Given the description of an element on the screen output the (x, y) to click on. 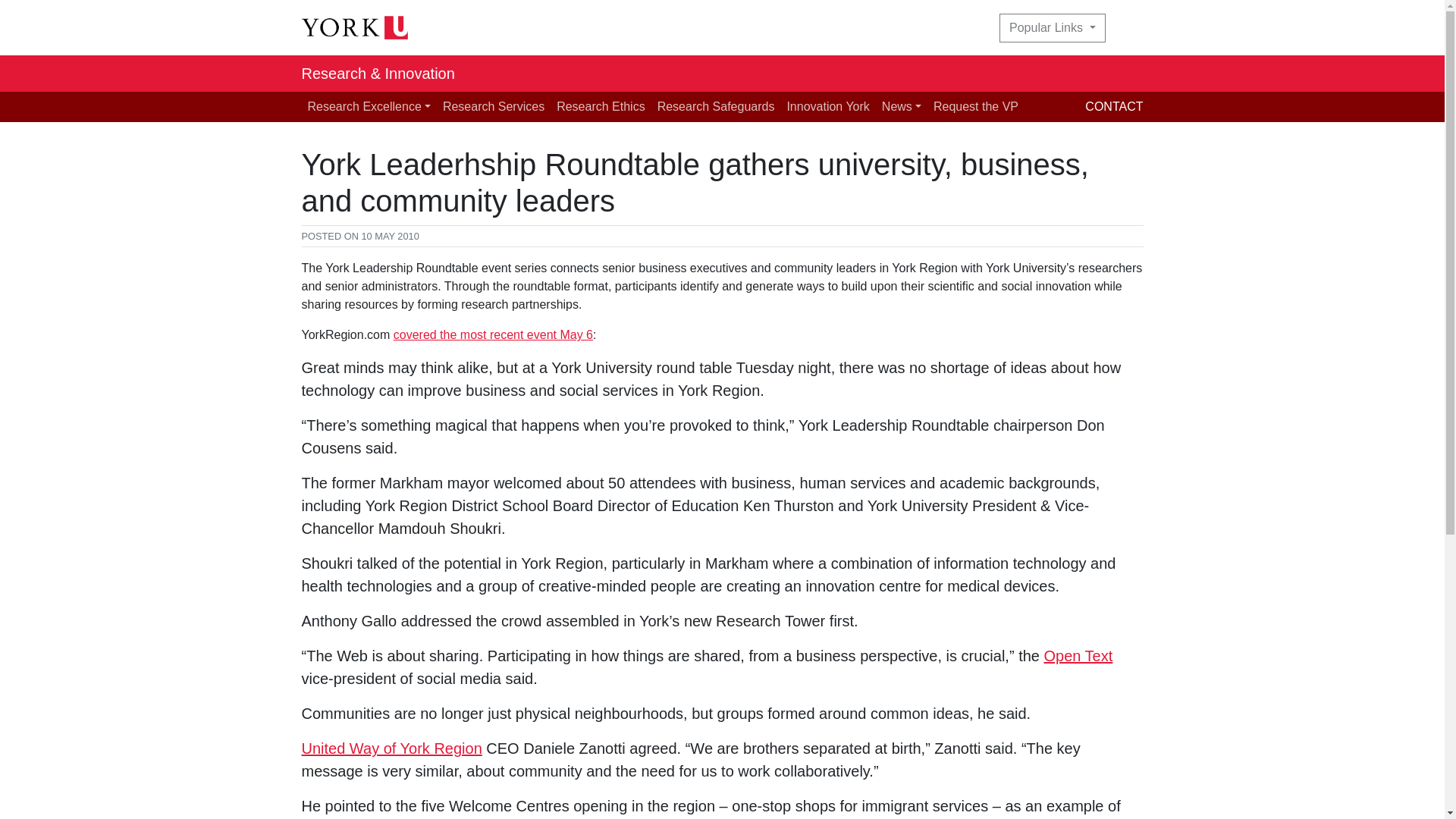
Request the VP (976, 106)
Research Ethics (600, 106)
Open Text (1077, 655)
Innovation York (827, 106)
Research Safeguards (715, 106)
CONTACT (1113, 106)
Popular Links (1051, 27)
Research Excellence (368, 106)
covered the most recent event May 6 (492, 334)
Search (1133, 27)
